Given the description of an element on the screen output the (x, y) to click on. 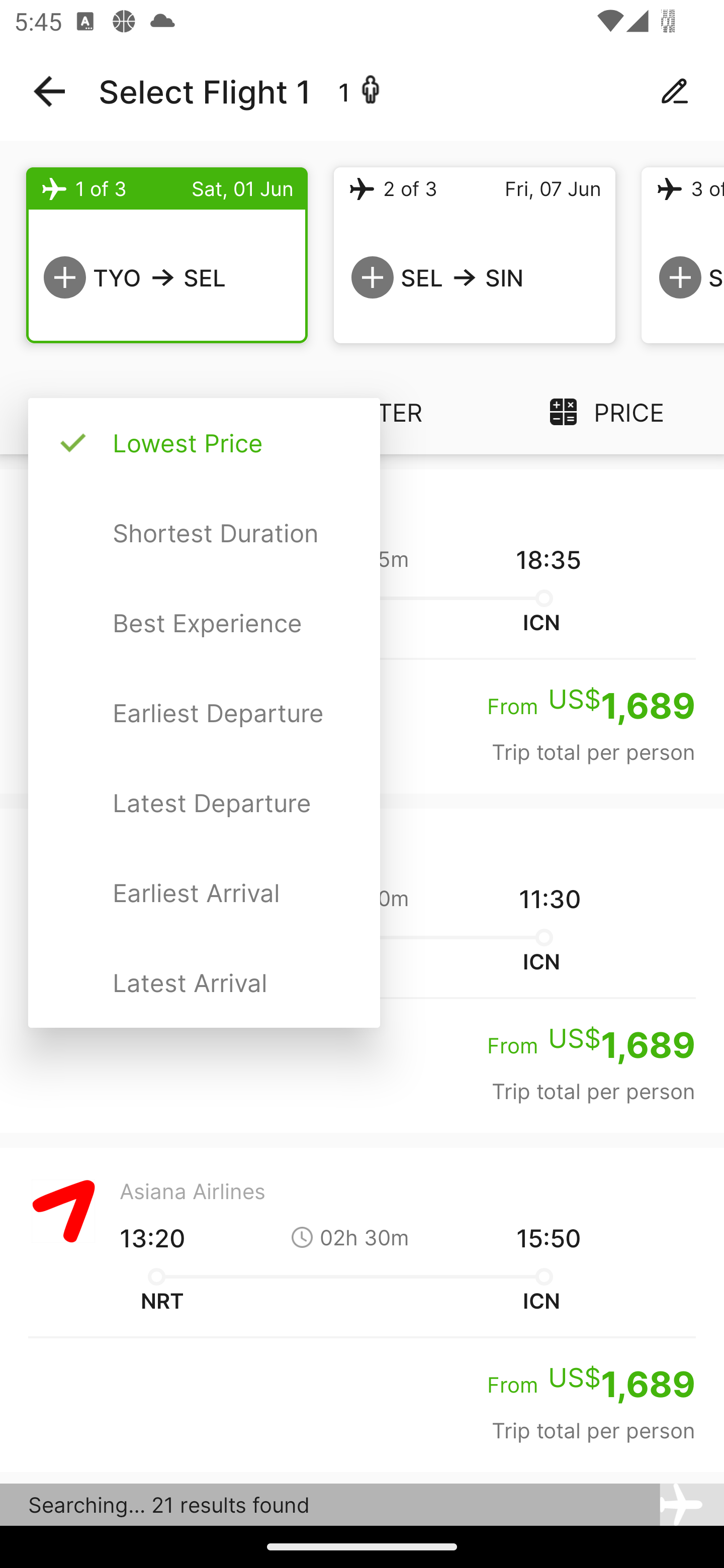
Lowest Price (204, 442)
Shortest Duration (204, 532)
Best Experience (204, 622)
Earliest Departure (204, 712)
Latest Departure (204, 802)
Earliest Arrival (204, 892)
Latest Arrival (204, 982)
